Given the description of an element on the screen output the (x, y) to click on. 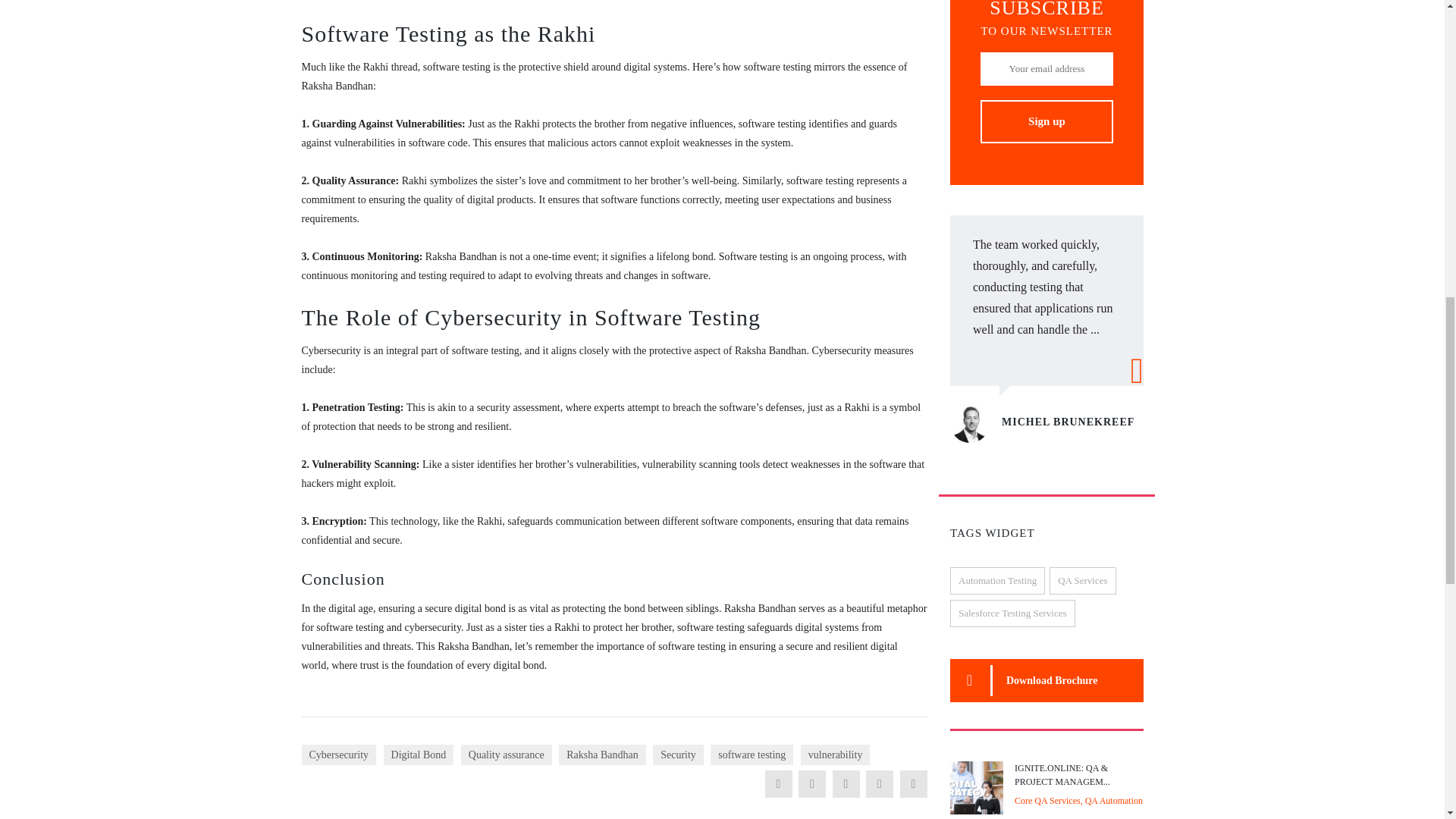
Raksha Bandhan (602, 754)
Cybersecurity (339, 754)
Quality assurance (506, 754)
vulnerability (835, 754)
Security (677, 754)
Sign up (1045, 121)
software testing (751, 754)
Security (677, 754)
Cybersecurity (339, 754)
Digital Bond (419, 754)
Digital Bond (419, 754)
Quality assurance (506, 754)
Raksha Bandhan (602, 754)
